Given the description of an element on the screen output the (x, y) to click on. 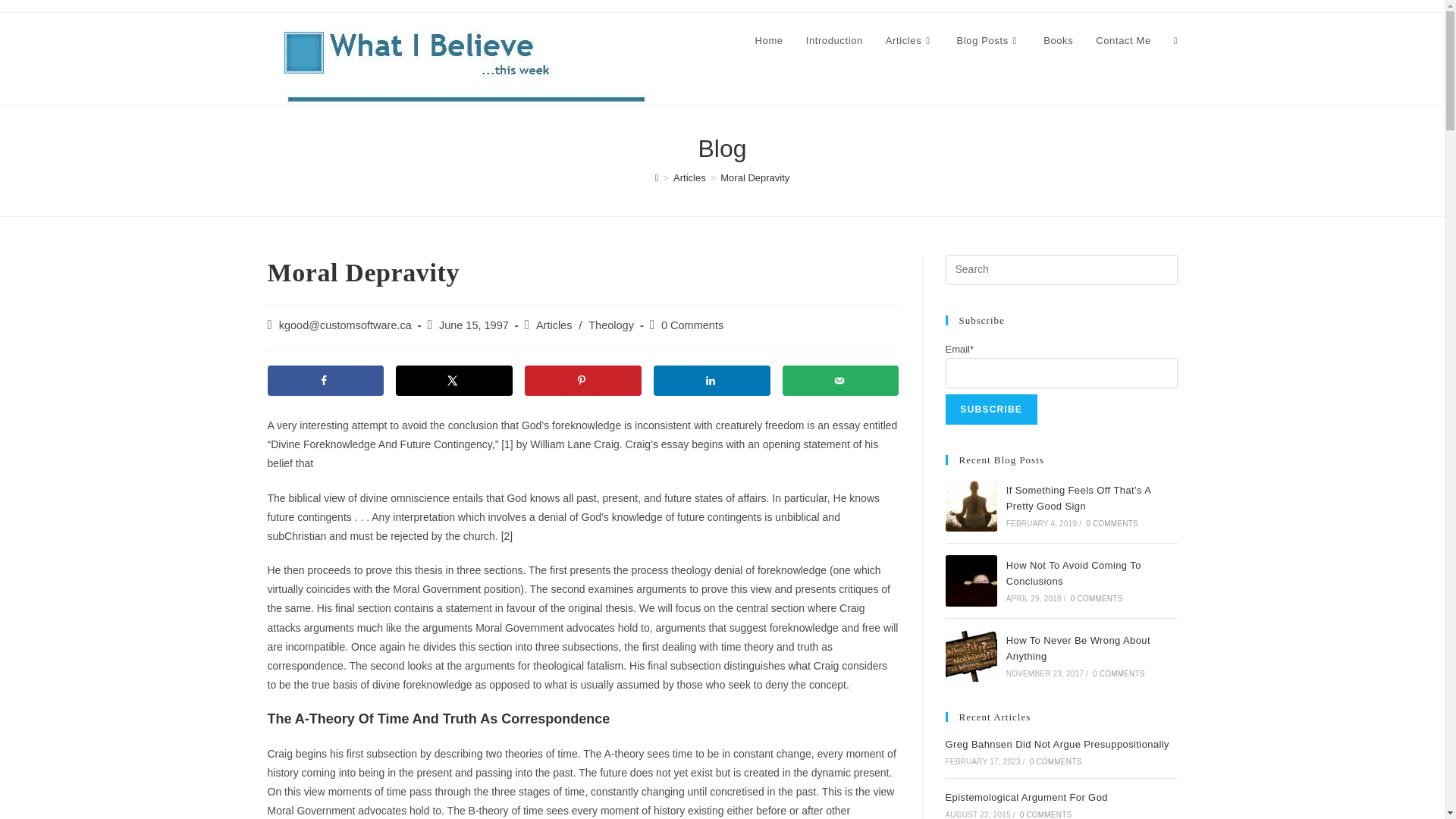
Home (769, 40)
Share on X (454, 380)
Send over email (840, 380)
Articles (553, 325)
Save to Pinterest (582, 380)
Contact Me (1122, 40)
Blog Posts (988, 40)
Subscribe (990, 409)
Share on LinkedIn (711, 380)
Articles (909, 40)
